Given the description of an element on the screen output the (x, y) to click on. 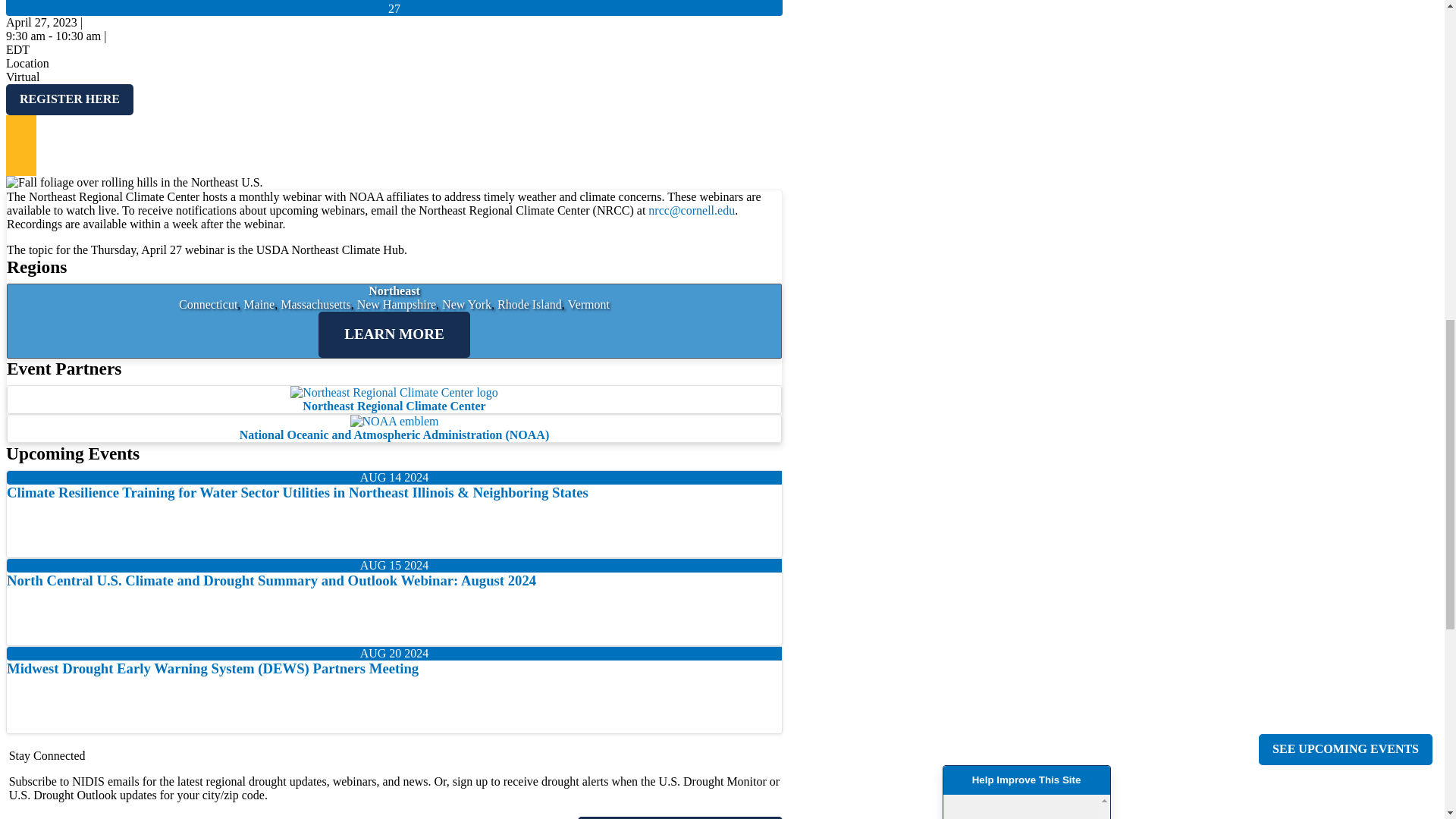
REGISTER HERE (69, 98)
LEARN MORE (394, 334)
Rhode Island (529, 304)
Vermont (588, 304)
Maine (259, 304)
New York (467, 304)
Connecticut (208, 304)
New Hampshire (395, 304)
Northeast (394, 290)
Massachusetts (315, 304)
